Given the description of an element on the screen output the (x, y) to click on. 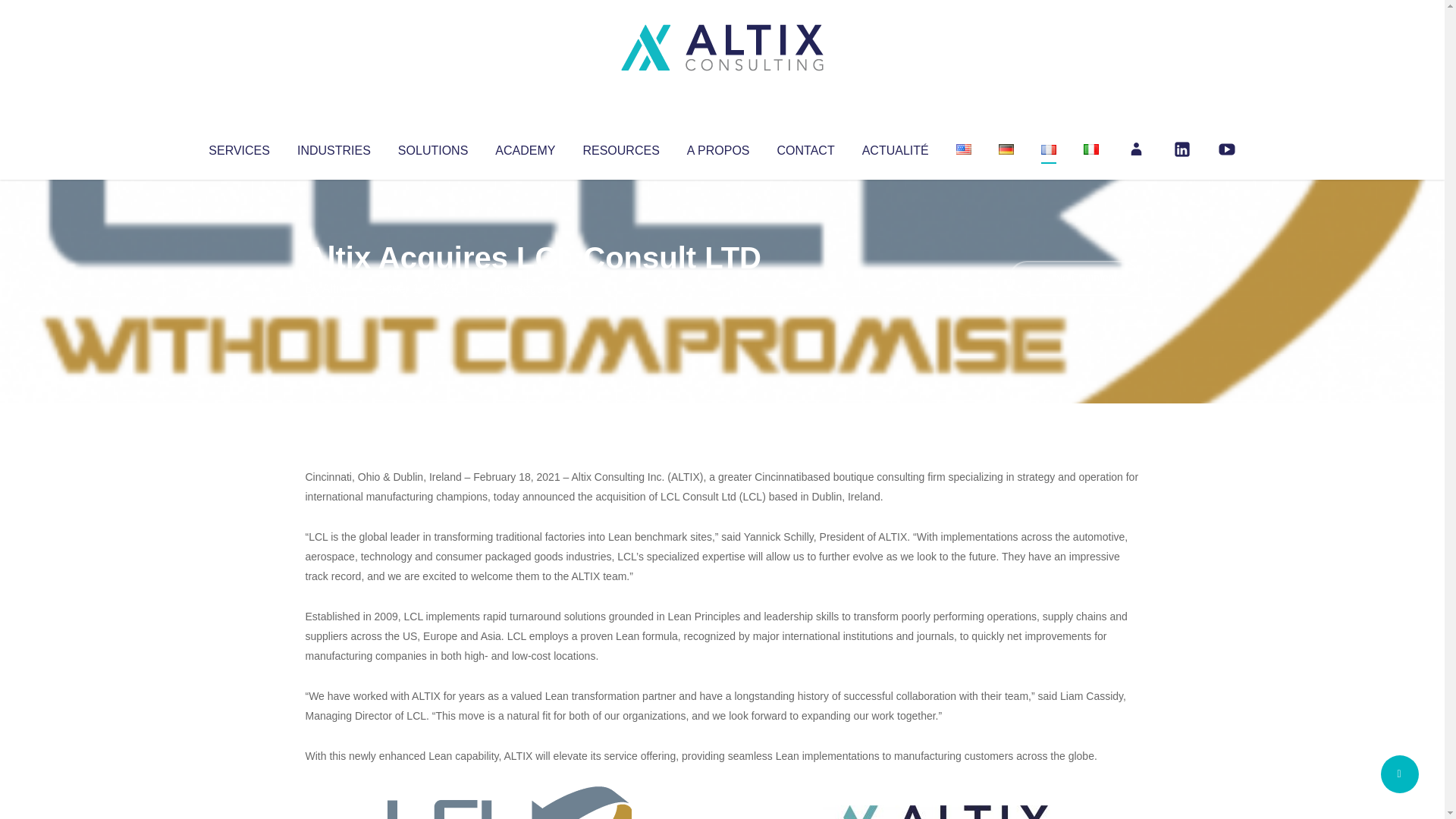
No Comments (1073, 278)
RESOURCES (620, 146)
Articles par Altix (333, 287)
SOLUTIONS (432, 146)
A PROPOS (718, 146)
INDUSTRIES (334, 146)
Uncategorized (530, 287)
SERVICES (238, 146)
ACADEMY (524, 146)
Altix (333, 287)
